Given the description of an element on the screen output the (x, y) to click on. 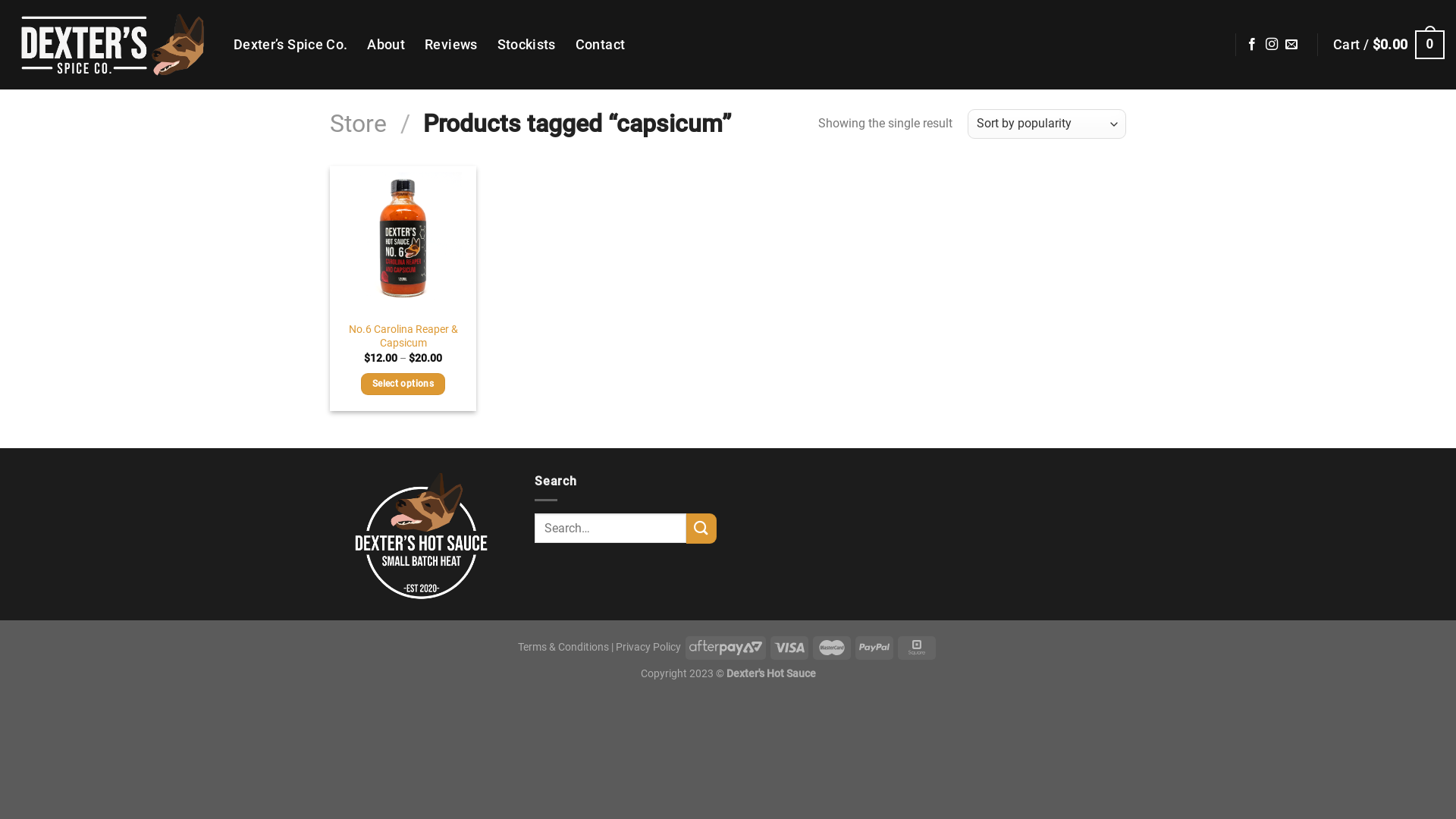
Terms & Conditions Element type: text (562, 646)
Reviews Element type: text (450, 44)
Contact Element type: text (599, 44)
Privacy Policy Element type: text (647, 646)
Follow on Facebook Element type: hover (1251, 44)
No.6 Carolina Reaper & Capsicum Element type: text (402, 337)
Stockists Element type: text (526, 44)
About Element type: text (385, 44)
Send us an email Element type: hover (1291, 44)
Select options Element type: text (402, 384)
Follow on Instagram Element type: hover (1271, 44)
Cart / $0.00
0 Element type: text (1388, 44)
Store Element type: text (357, 123)
